Given the description of an element on the screen output the (x, y) to click on. 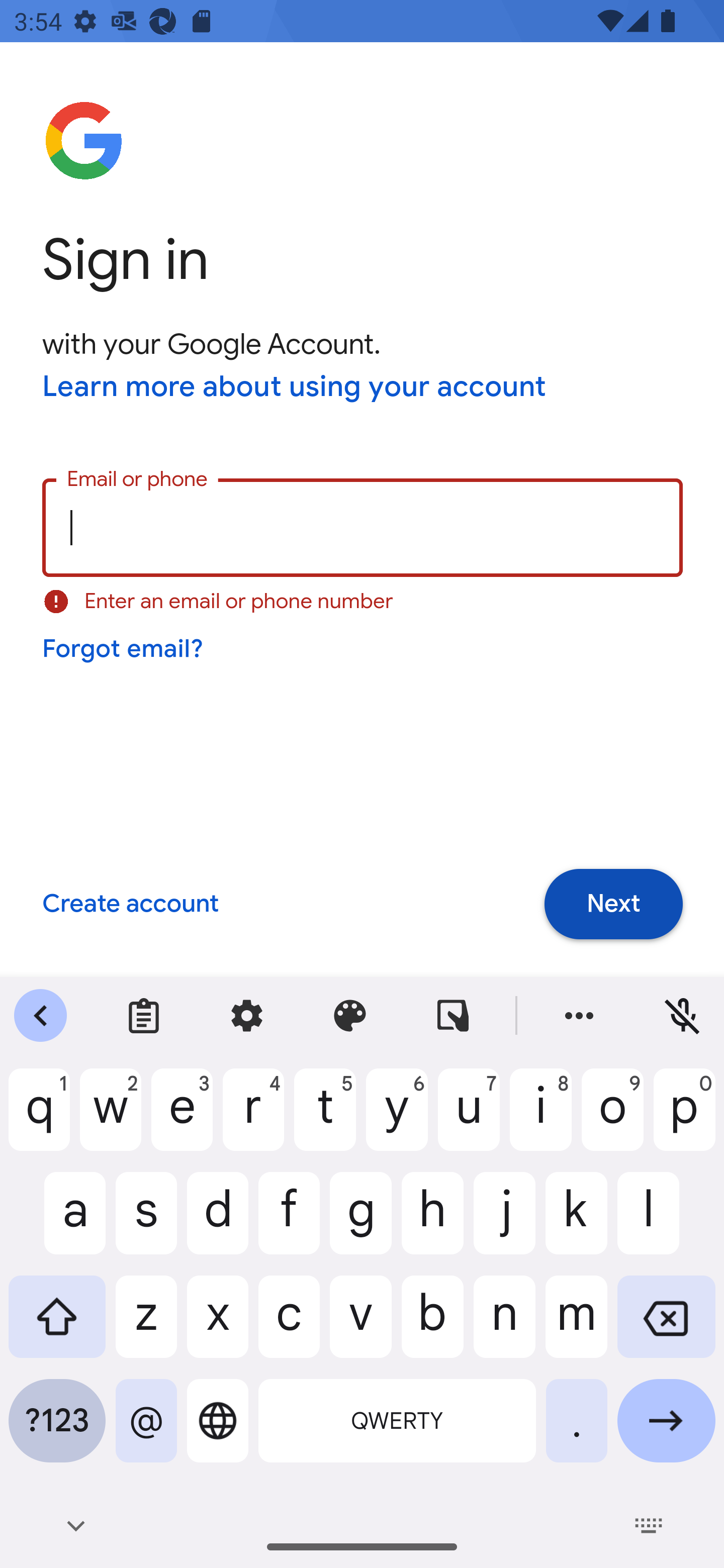
Learn more about using your account (294, 388)
Forgot email? (123, 648)
Next (613, 903)
Create account (129, 904)
